Given the description of an element on the screen output the (x, y) to click on. 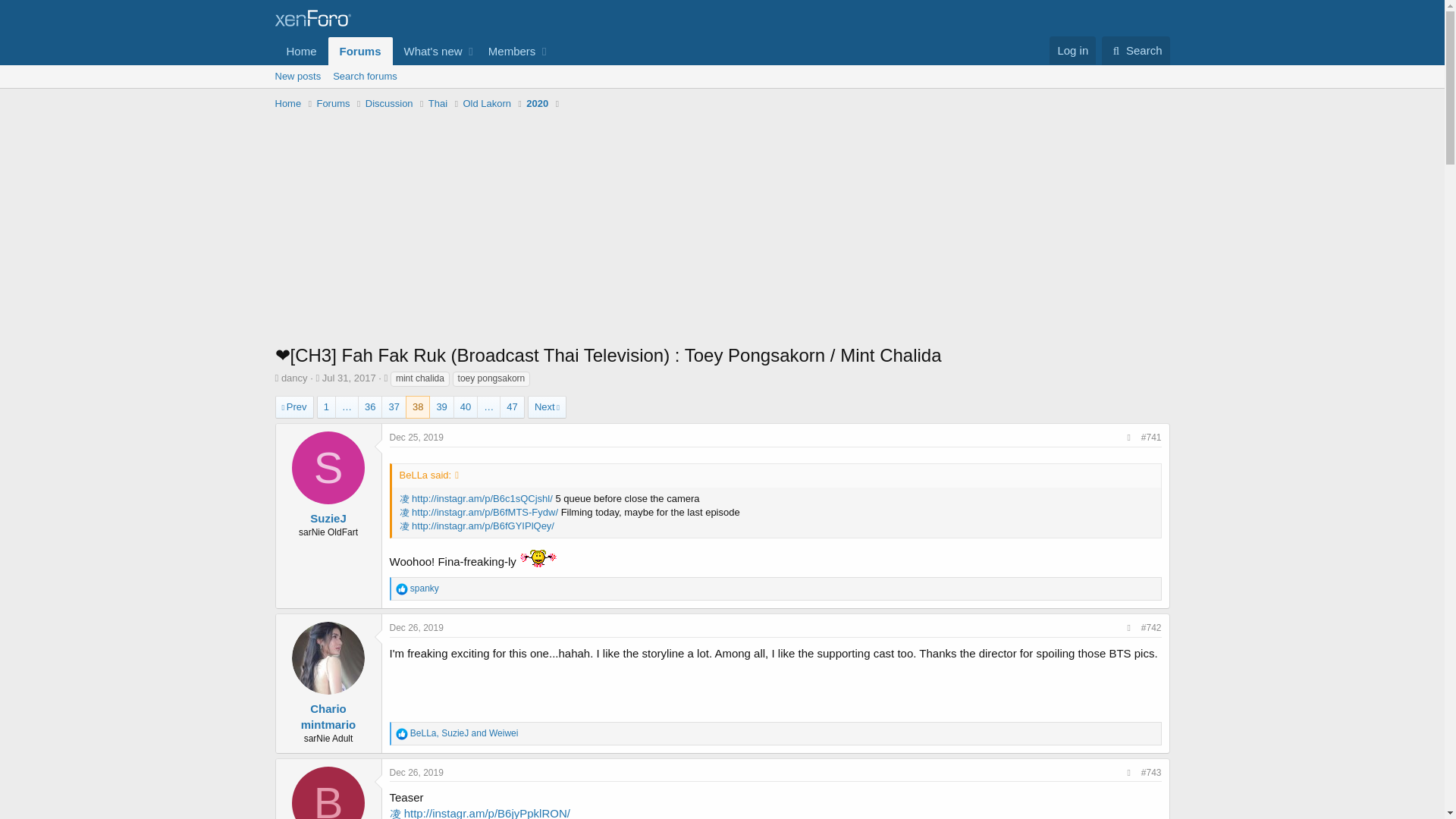
Forums (361, 50)
New posts (296, 76)
Search (411, 50)
dancy (1136, 50)
Home (294, 378)
cheer    :cheer: (288, 103)
Dec 26, 2019 at 6:51 AM (538, 557)
Like (417, 627)
What's new (401, 589)
